Given the description of an element on the screen output the (x, y) to click on. 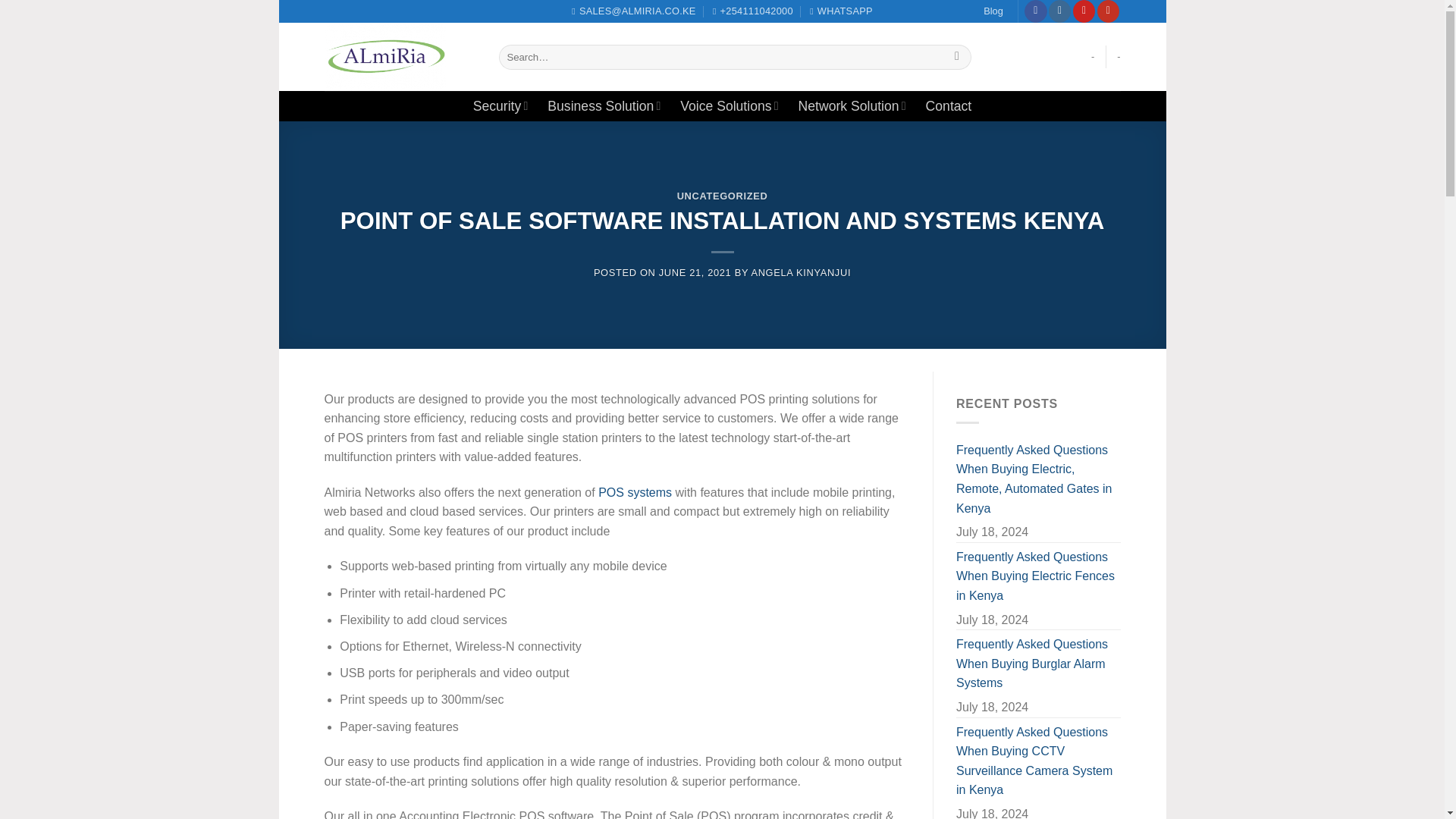
254700449778 (840, 11)
Voice Solutions (728, 105)
WHATSAPP (840, 11)
Security (500, 105)
UNCATEGORIZED (722, 195)
Business Solution (604, 105)
Almiria Networks Kenya - Network and Security Solutions (400, 56)
